Given the description of an element on the screen output the (x, y) to click on. 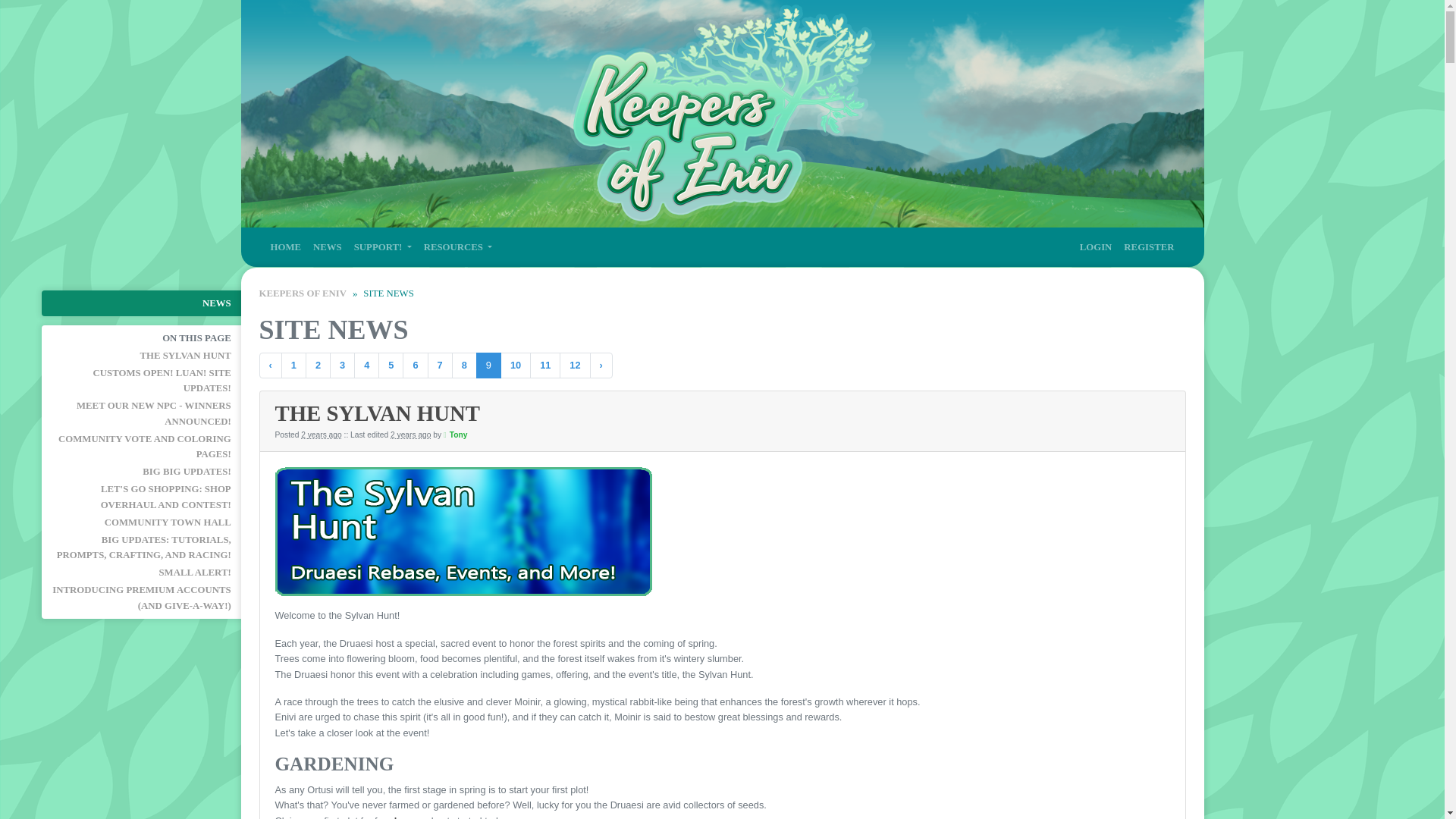
COMMUNITY TOWN HALL (141, 521)
5 (390, 365)
SUPPORT! (382, 247)
NEWS (141, 303)
6 (415, 365)
2 (317, 365)
HOME (285, 247)
8 (464, 365)
RESOURCES (458, 247)
10 (515, 365)
BIG UPDATES: TUTORIALS, PROMPTS, CRAFTING, AND RACING! (141, 546)
CUSTOMS OPEN! LUAN! SITE UPDATES! (141, 380)
3 (342, 365)
LOGIN (1096, 247)
7 (440, 365)
